Given the description of an element on the screen output the (x, y) to click on. 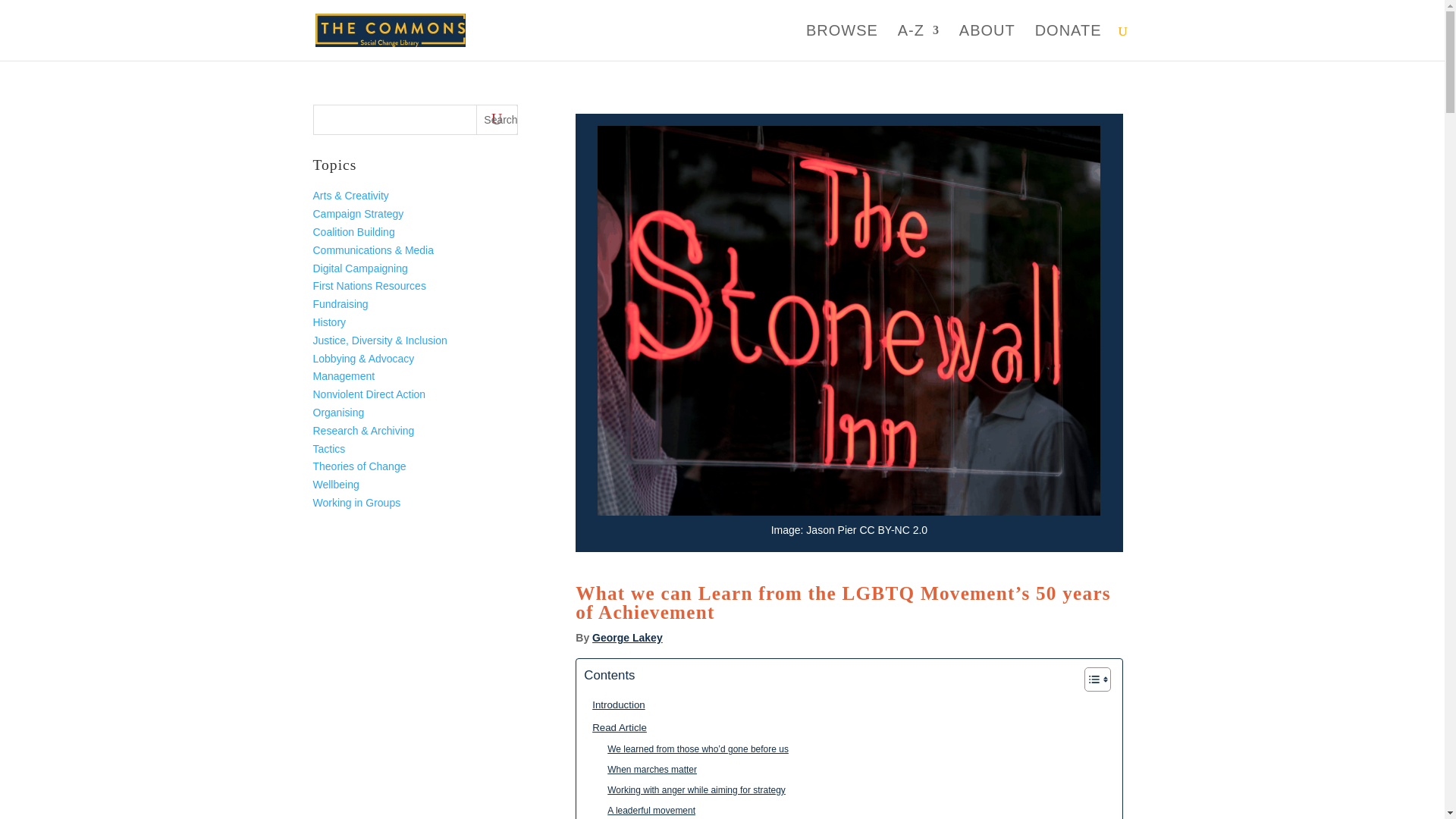
Read Article (614, 727)
Introduction (614, 704)
DONATE (1068, 42)
A leaderful movement (646, 810)
When marches matter (647, 769)
Working with anger while aiming for strategy (692, 789)
Working with anger while aiming for strategy (692, 789)
BROWSE (841, 42)
ABOUT (986, 42)
Search (497, 119)
